Given the description of an element on the screen output the (x, y) to click on. 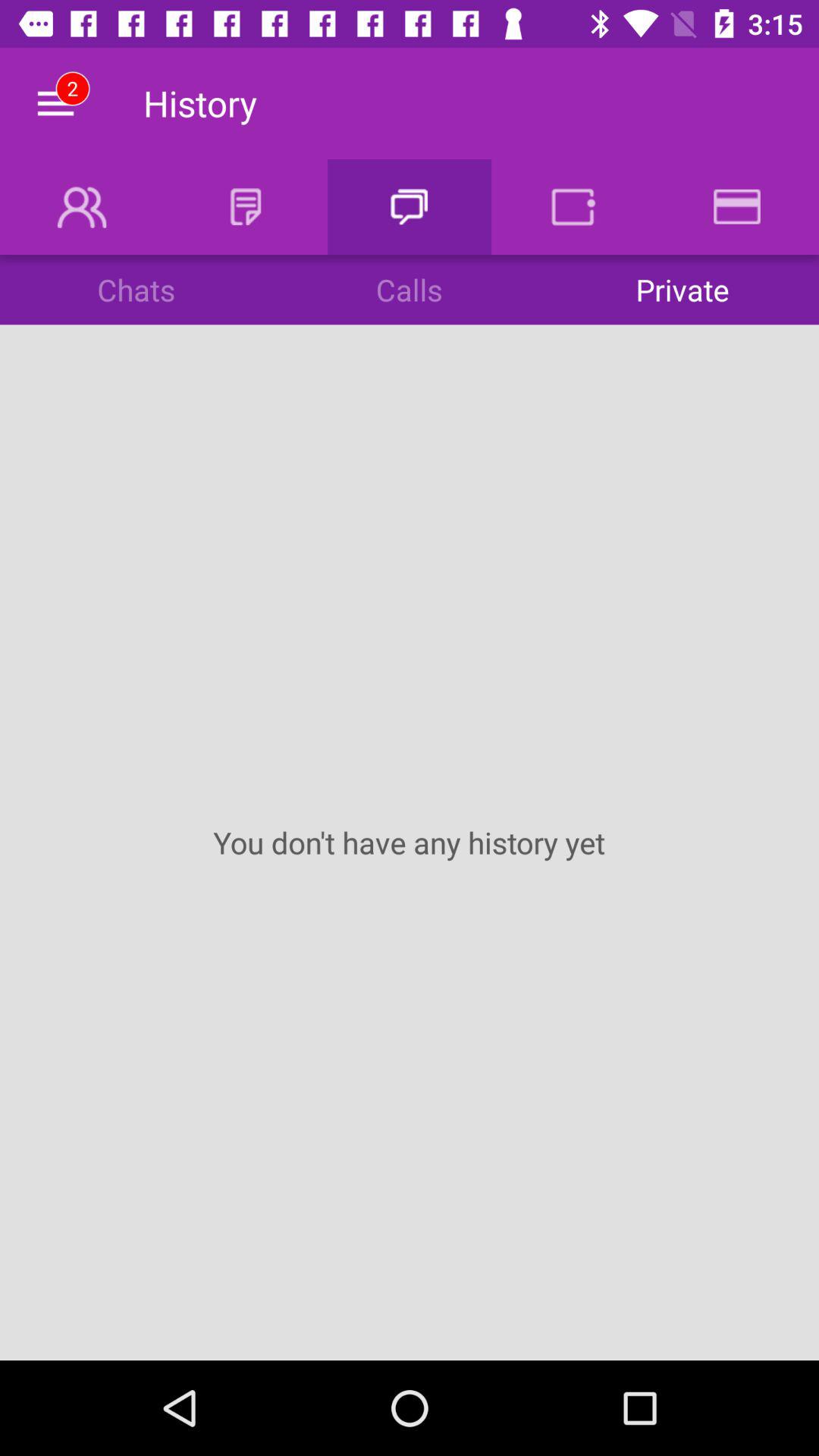
select item to the left of the history item (55, 103)
